Given the description of an element on the screen output the (x, y) to click on. 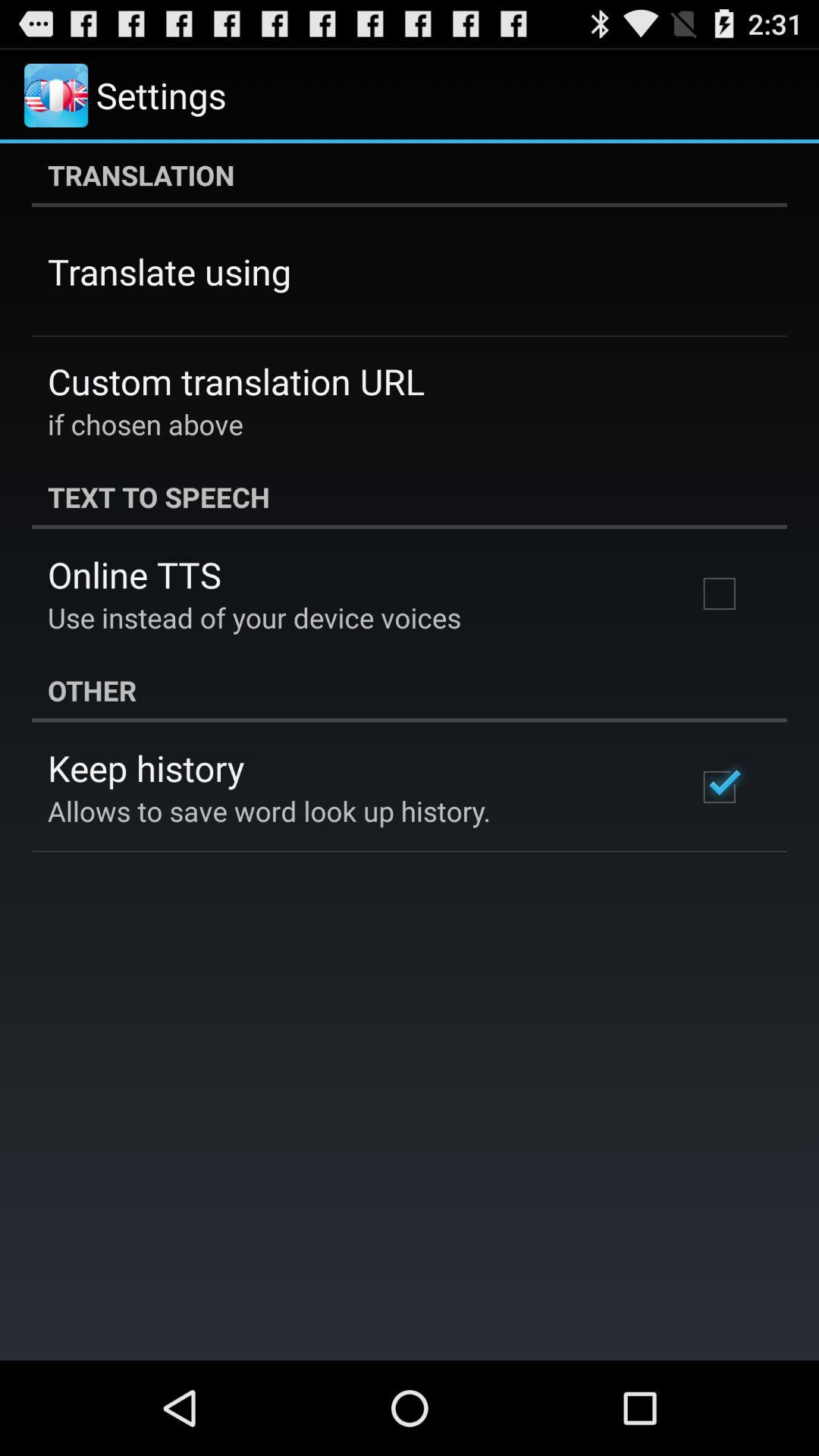
click the icon above keep history icon (409, 690)
